Given the description of an element on the screen output the (x, y) to click on. 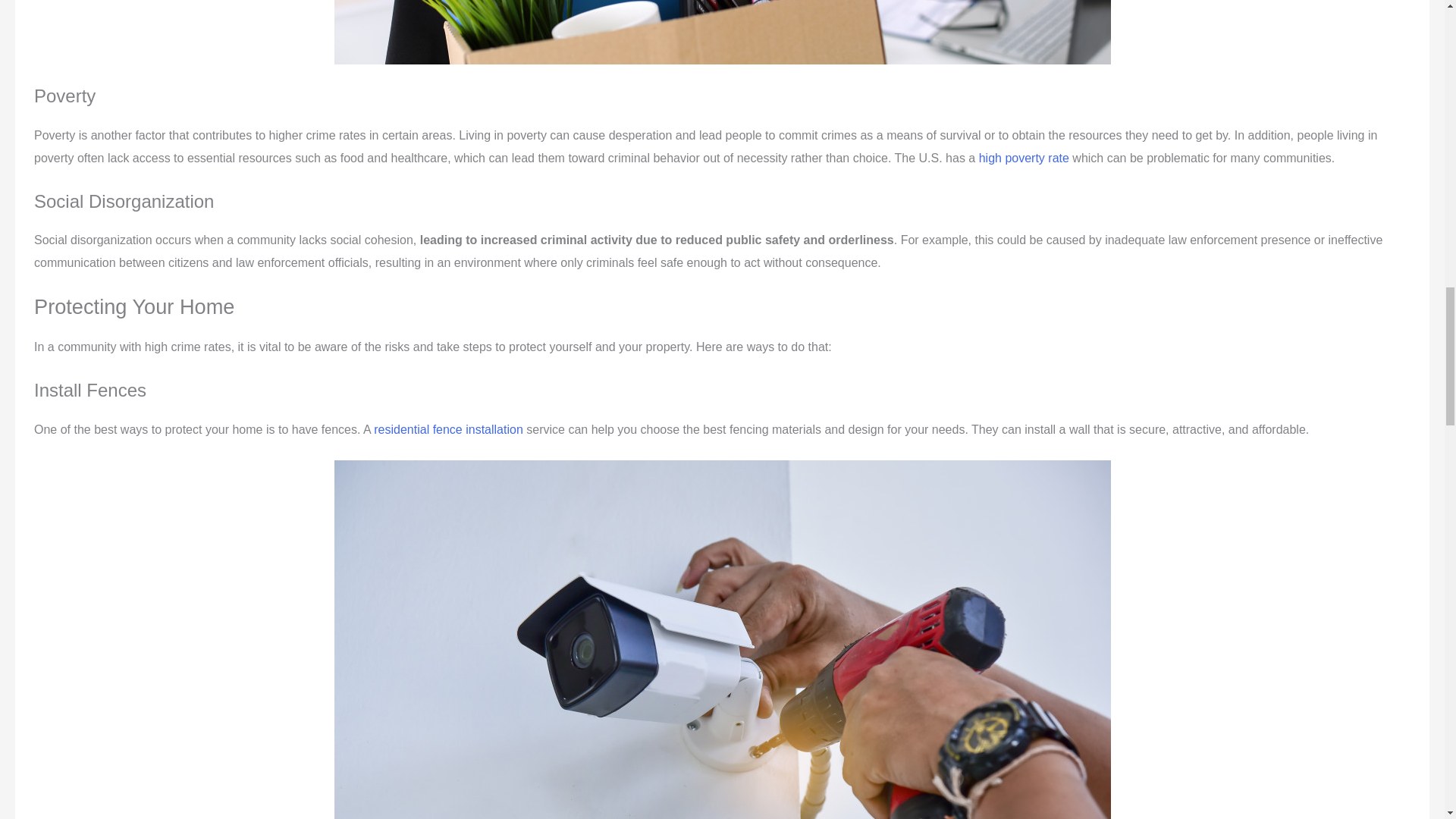
high poverty rate (1023, 157)
residential fence installation (449, 429)
Fired employee (721, 32)
